Given the description of an element on the screen output the (x, y) to click on. 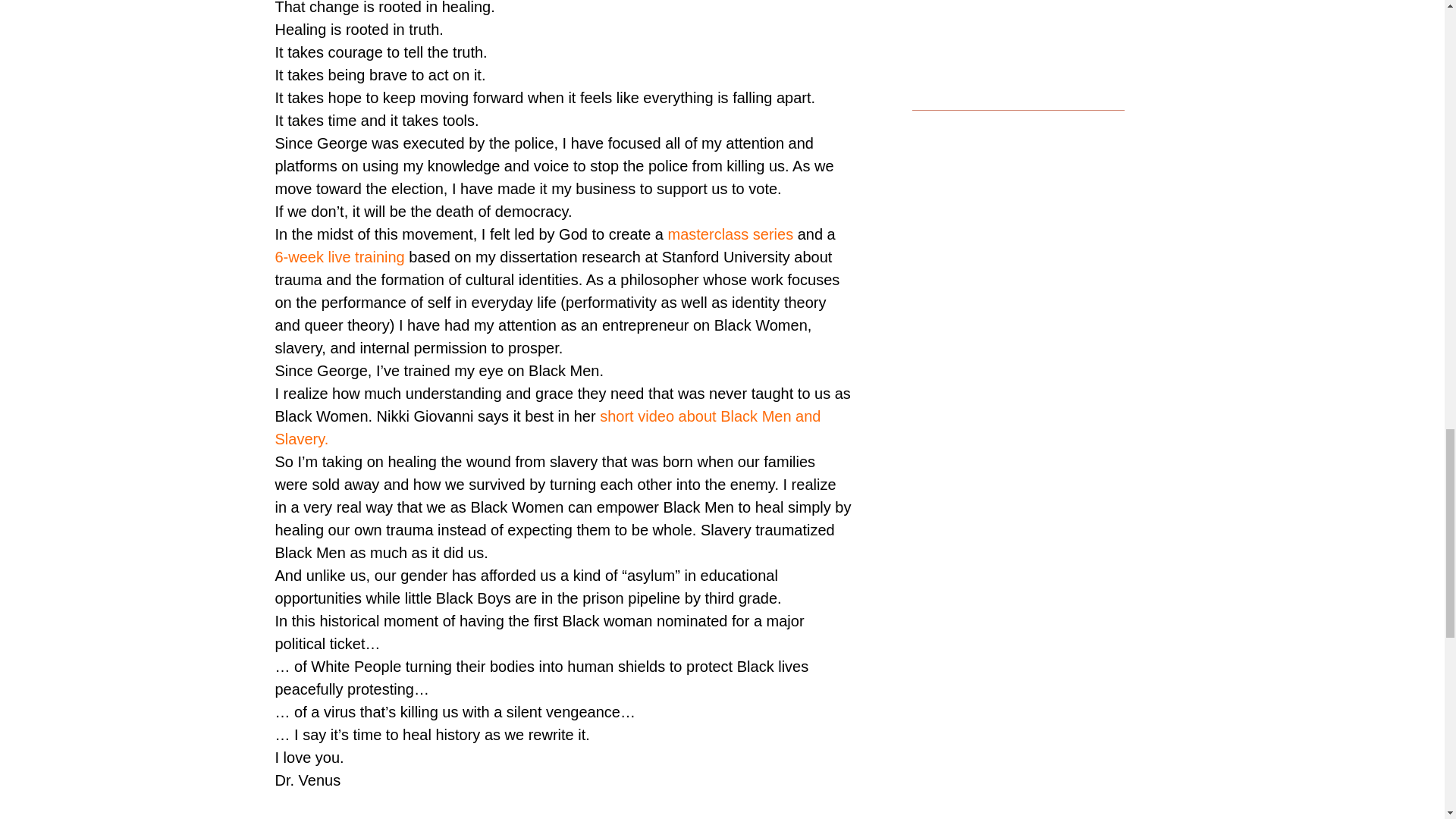
masterclass series (730, 234)
6-week live training (339, 256)
short video about Black Men and Slavery. (548, 427)
